Given the description of an element on the screen output the (x, y) to click on. 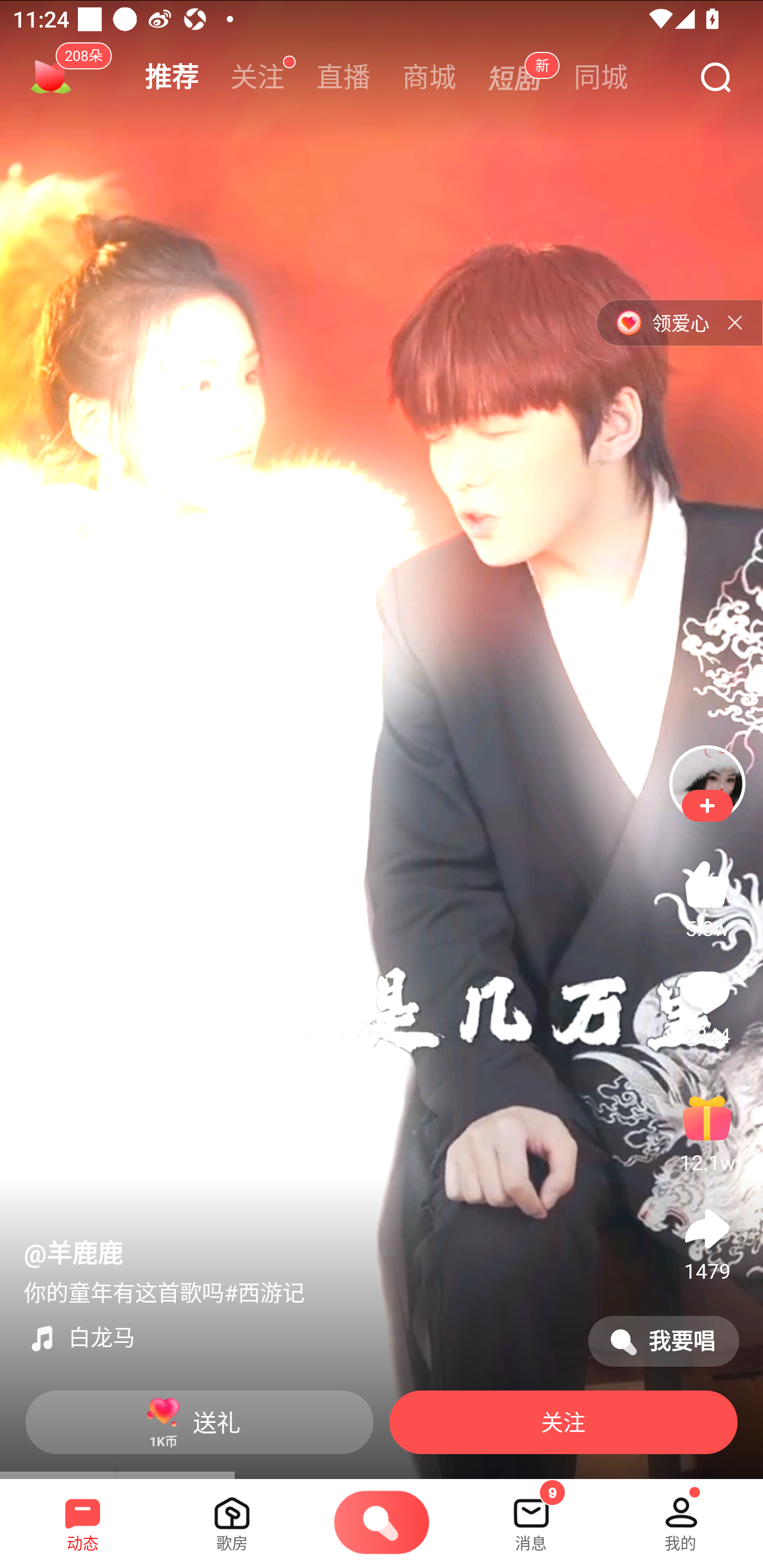
推荐 (171, 77)
关注 (257, 77)
直播 (343, 77)
商城 (429, 77)
同城 (600, 77)
任务中心 (50, 77)
搜索 (714, 78)
头像 (707, 782)
关注 (706, 805)
点赞58760 5.8w (706, 896)
评论2844 2844 (706, 1003)
送礼12.1w 12.1w (706, 1131)
分享1479 1479 (706, 1240)
@羊鹿鹿 (72, 1254)
你的童年有这首歌吗#西游记 (163, 1293)
白龙马 (297, 1338)
我要唱 (663, 1341)
1K币 送礼 (199, 1421)
关注 (563, 1421)
已选中动态 (82, 1516)
未选中歌房 (231, 1516)
未选中录歌 (381, 1523)
未选中消息 (530, 1516)
未选中我的 (680, 1516)
